Given the description of an element on the screen output the (x, y) to click on. 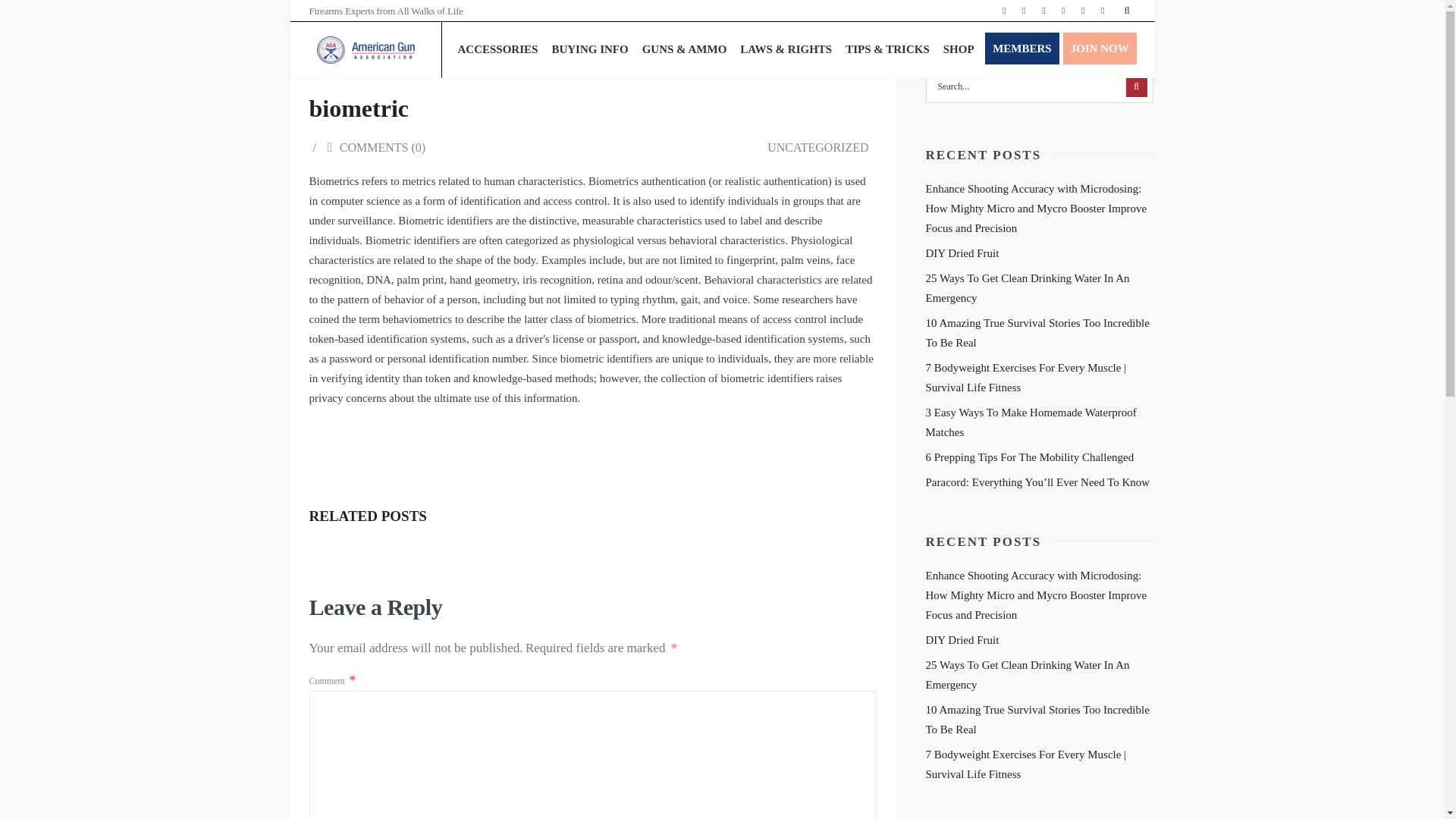
DIY Dried Fruit (961, 639)
25 Ways To Get Clean Drinking Water In An Emergency (1026, 675)
Search... (1038, 86)
10 Amazing True Survival Stories Too Incredible To Be Real (1036, 719)
You Tube (1083, 10)
3 Easy Ways To Make Homemade Waterproof Matches (1029, 422)
BUYING INFO (589, 49)
Tumblr (1102, 10)
SHOP (958, 49)
